Given the description of an element on the screen output the (x, y) to click on. 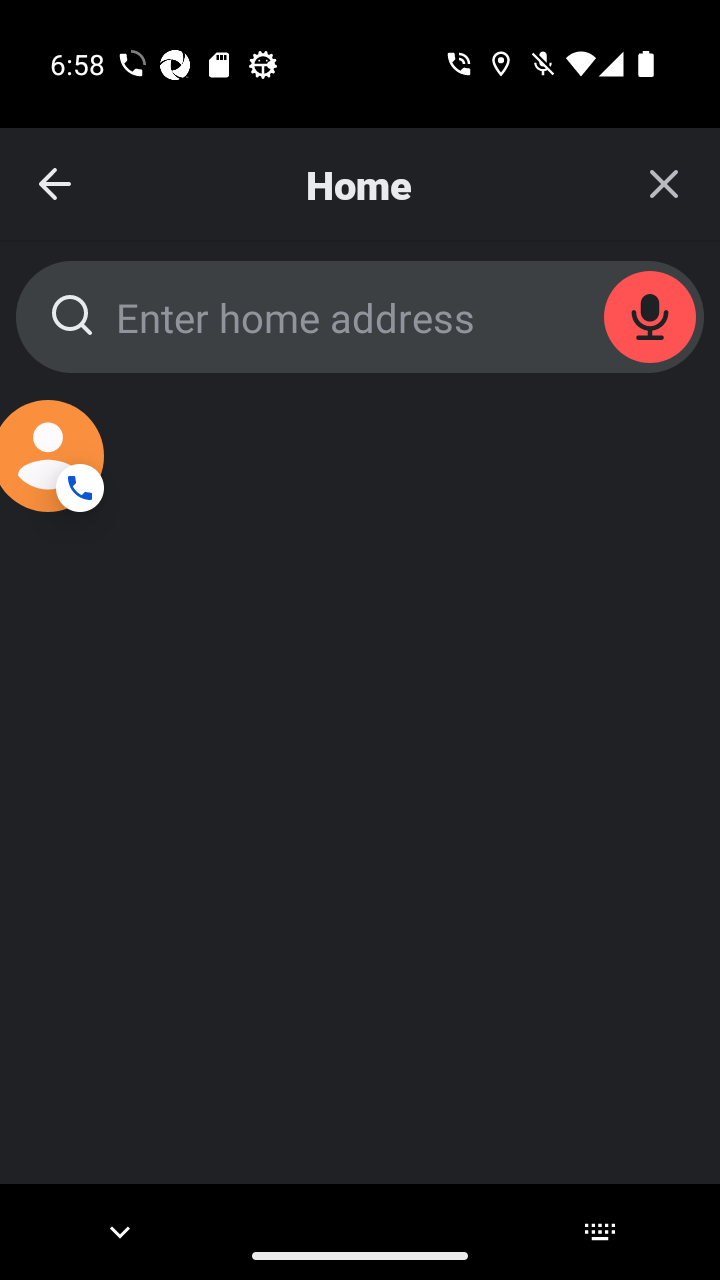
Enter home address (359, 316)
